Given the description of an element on the screen output the (x, y) to click on. 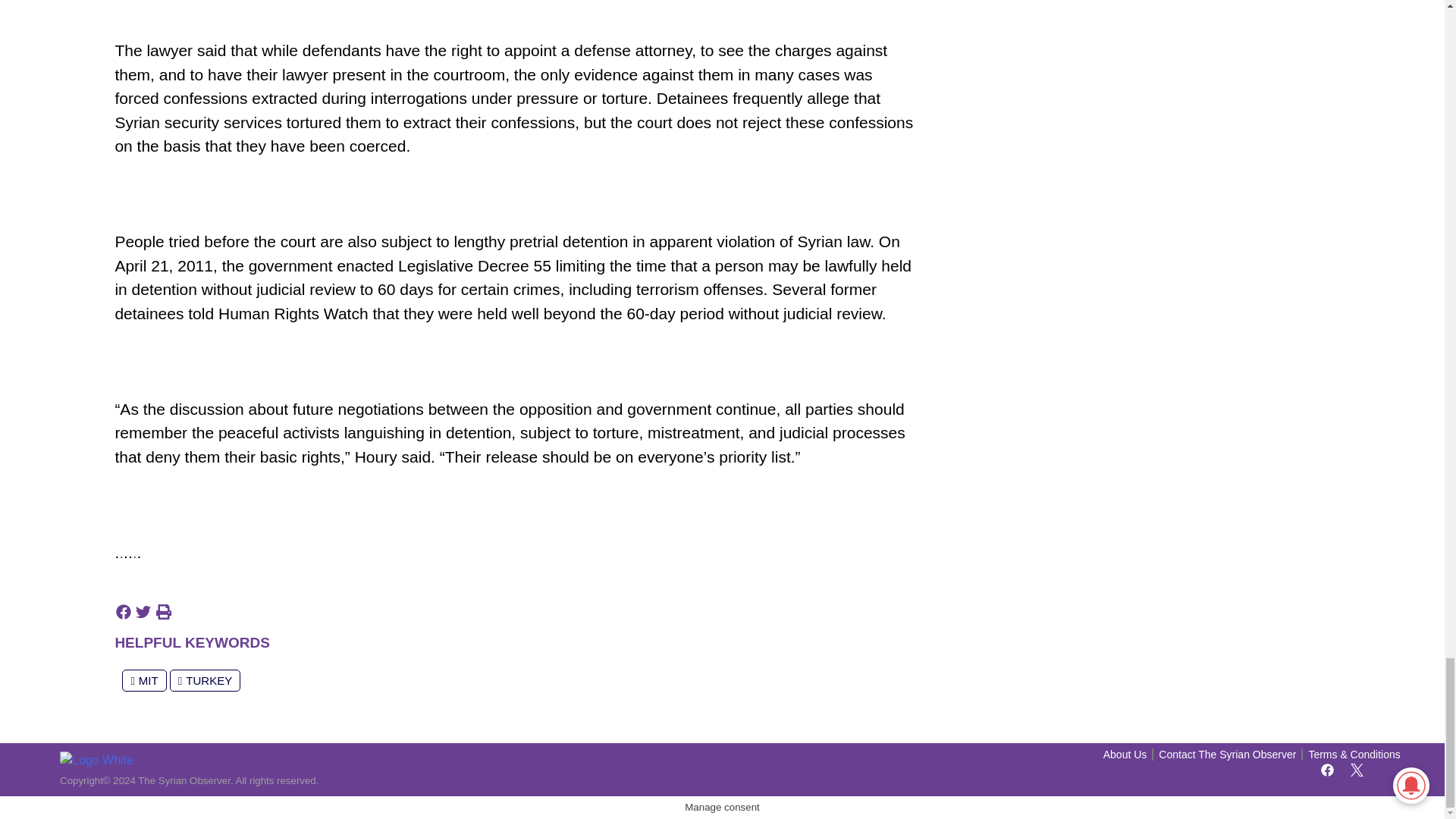
About Us (1125, 754)
TURKEY (205, 680)
Contact The Syrian Observer (1227, 754)
MIT (143, 680)
